Given the description of an element on the screen output the (x, y) to click on. 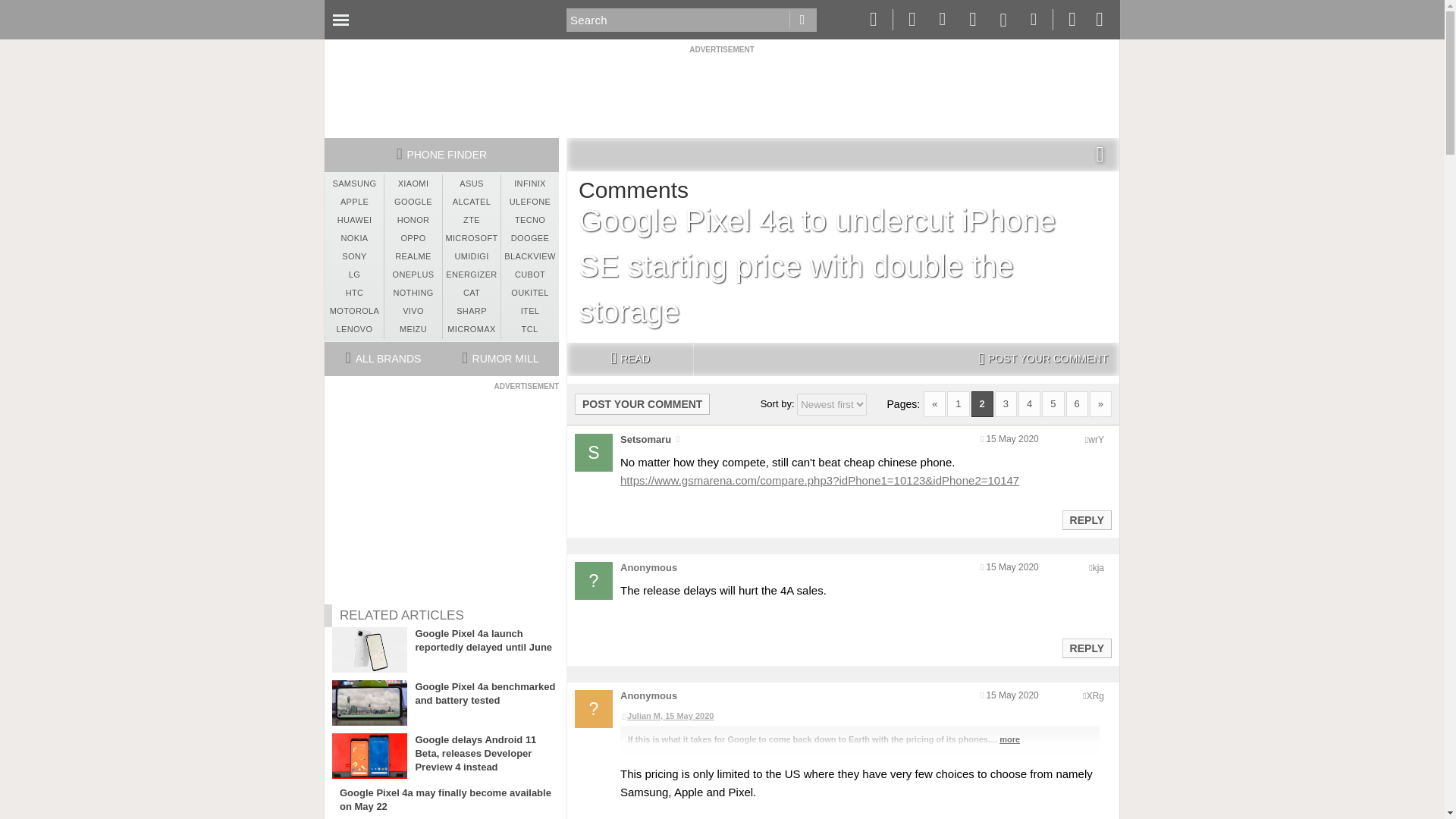
Setsomaru (645, 439)
Go (802, 19)
Reply to this post (1086, 520)
Sort comments by (831, 404)
POST YOUR COMMENT (1042, 359)
Go (802, 19)
Encoded anonymized location (1095, 439)
Reply to this post (1086, 648)
POST YOUR COMMENT (642, 403)
Encoded anonymized location (1098, 567)
